Given the description of an element on the screen output the (x, y) to click on. 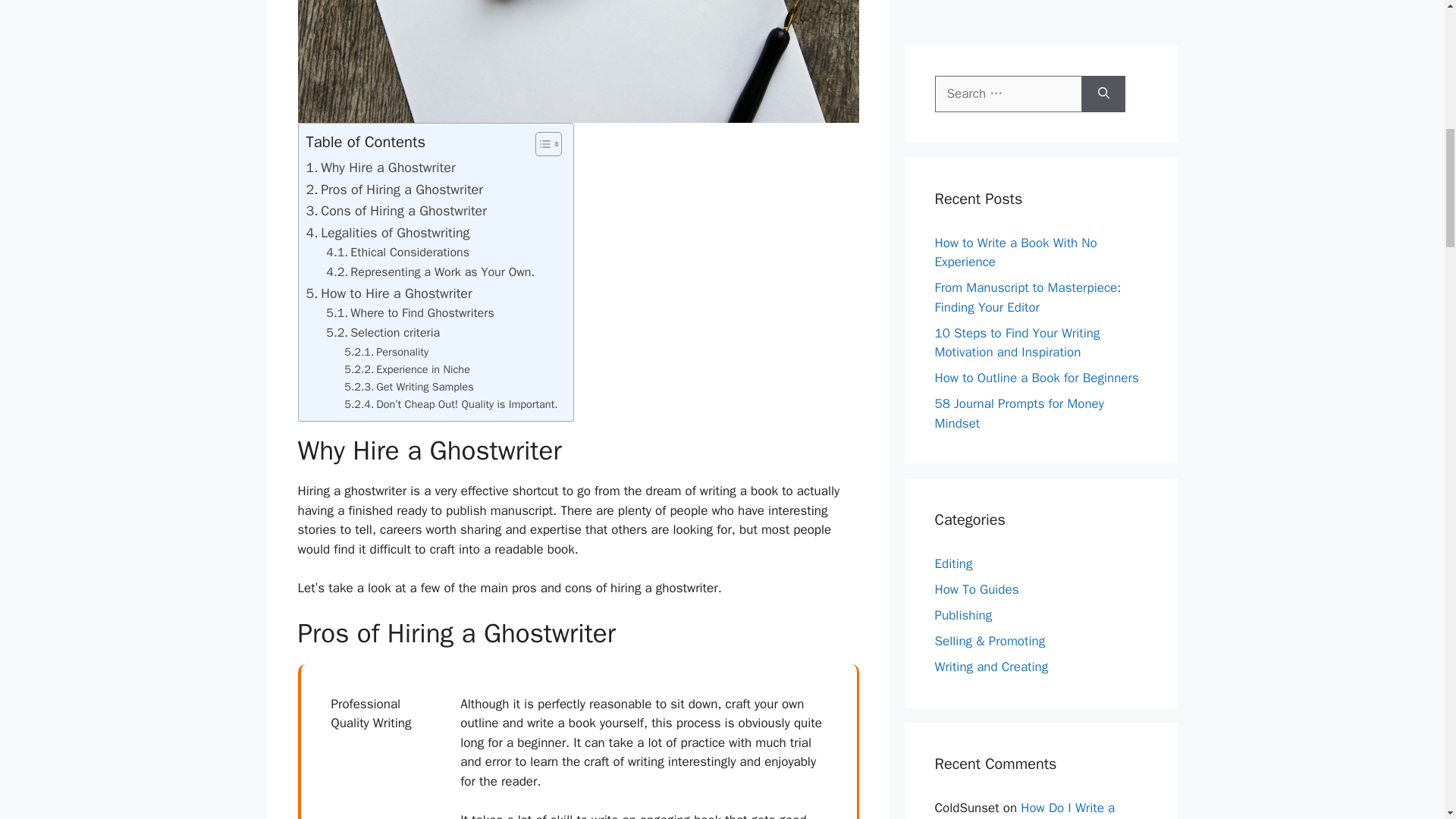
Representing a Work as Your Own. (430, 272)
Why Hire a Ghostwriter (380, 168)
Selection criteria (382, 333)
Cons of Hiring a Ghostwriter (395, 210)
Get Writing Samples (408, 386)
Ethical Considerations (397, 252)
Legalities of Ghostwriting (387, 232)
Experience in Niche (406, 369)
Get Writing Samples (408, 386)
Personality (385, 352)
